Given the description of an element on the screen output the (x, y) to click on. 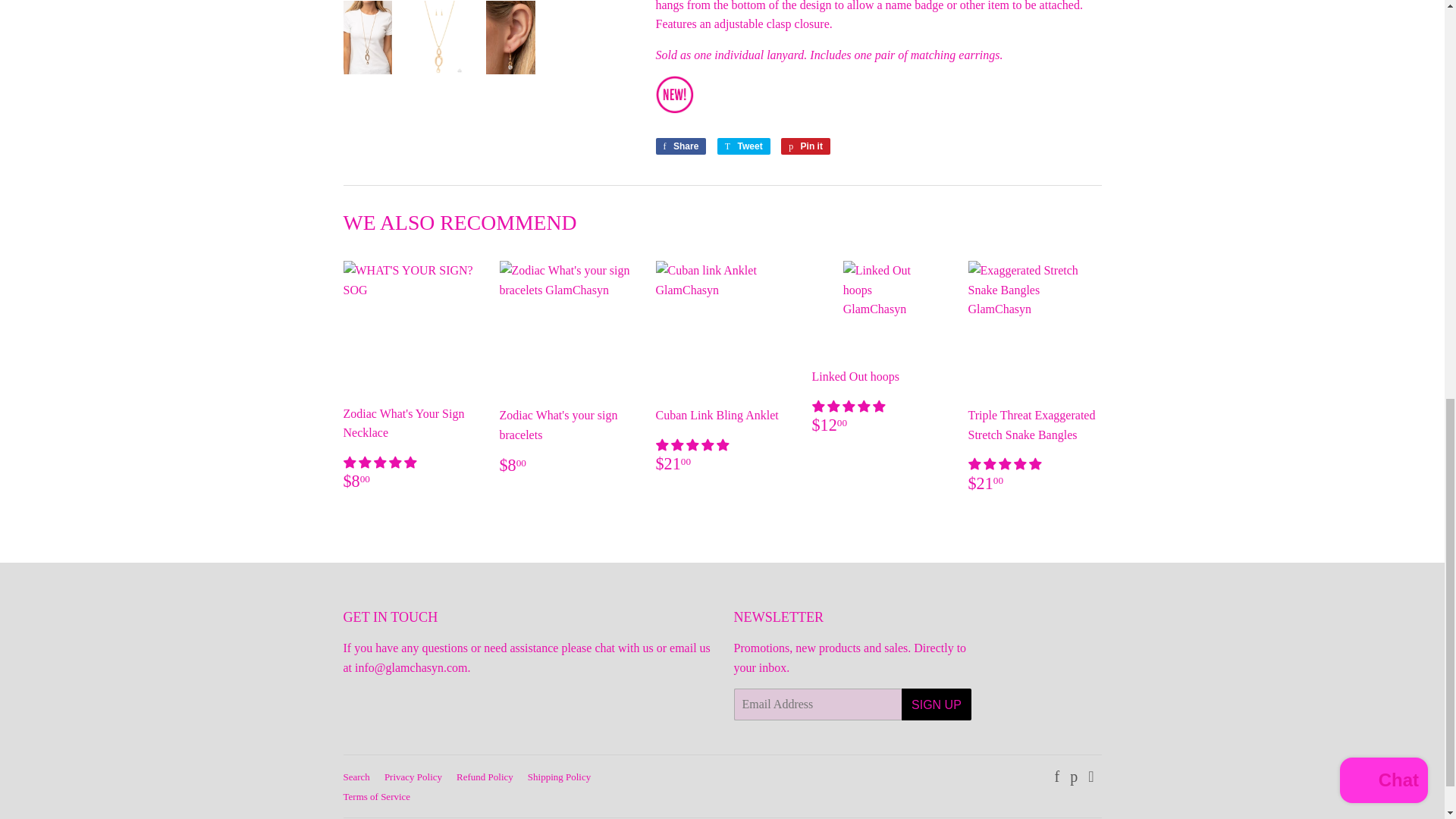
Tweet on Twitter (743, 146)
Pin on Pinterest (804, 146)
Share on Facebook (680, 146)
